Given the description of an element on the screen output the (x, y) to click on. 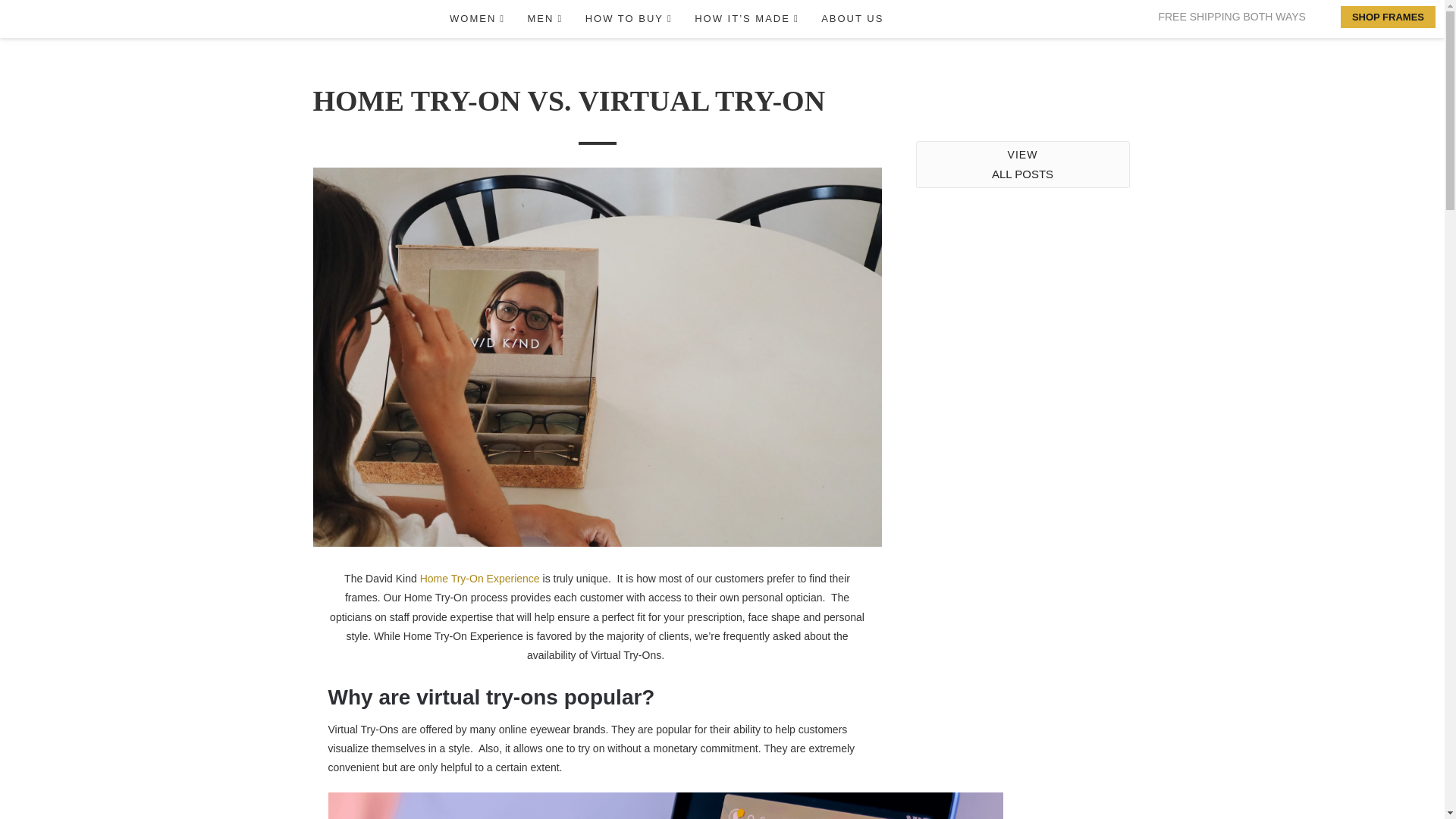
MEN (539, 18)
FREE SHIPPING BOTH WAYS (1230, 16)
HOME (383, 18)
HOW TO BUY (623, 18)
SHOP FRAMES (1387, 16)
SHOP FRAMES (1387, 16)
WOMEN (470, 18)
ABOUT US (848, 18)
